Given the description of an element on the screen output the (x, y) to click on. 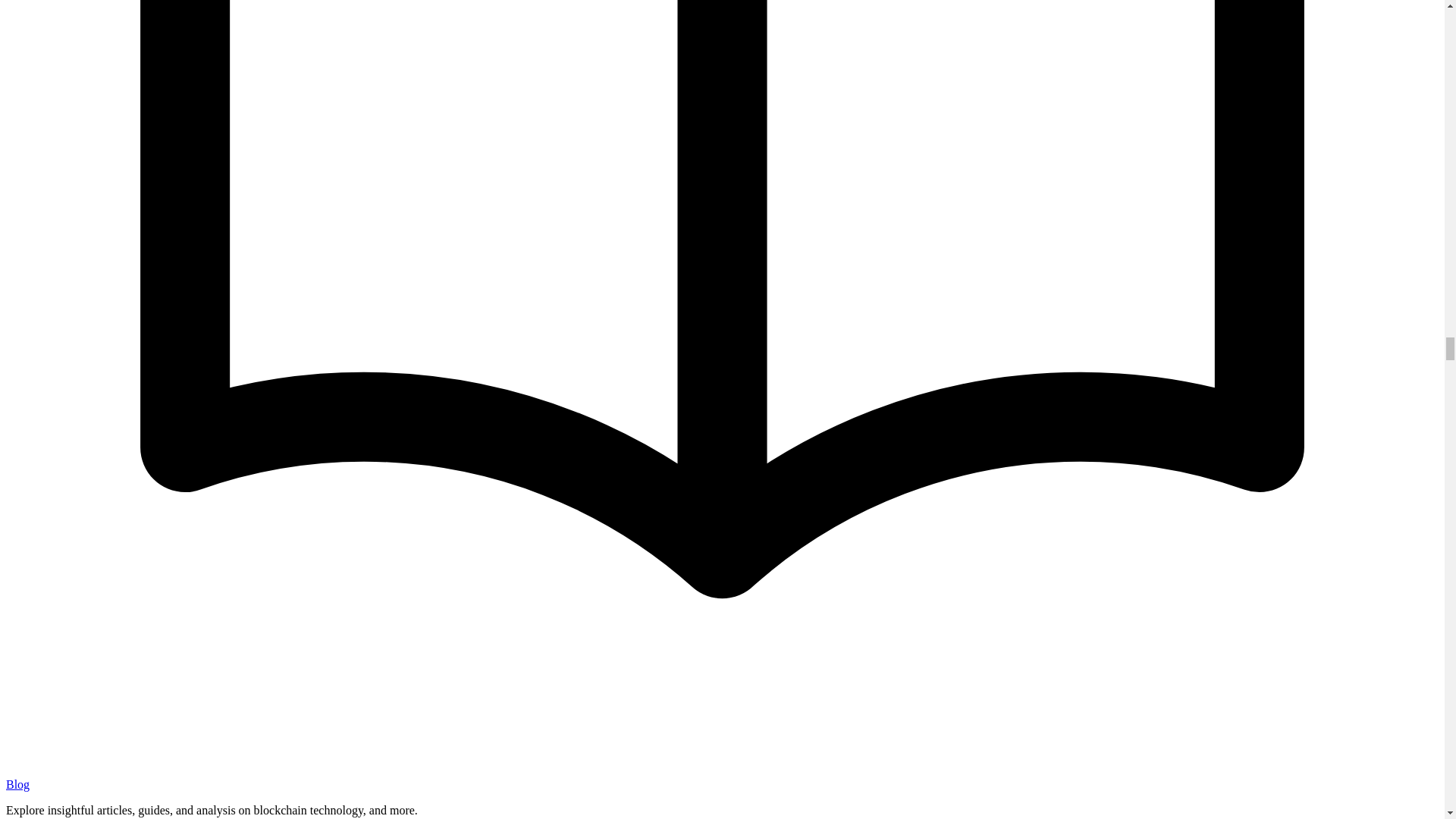
Blog (17, 784)
Blog (17, 784)
